Given the description of an element on the screen output the (x, y) to click on. 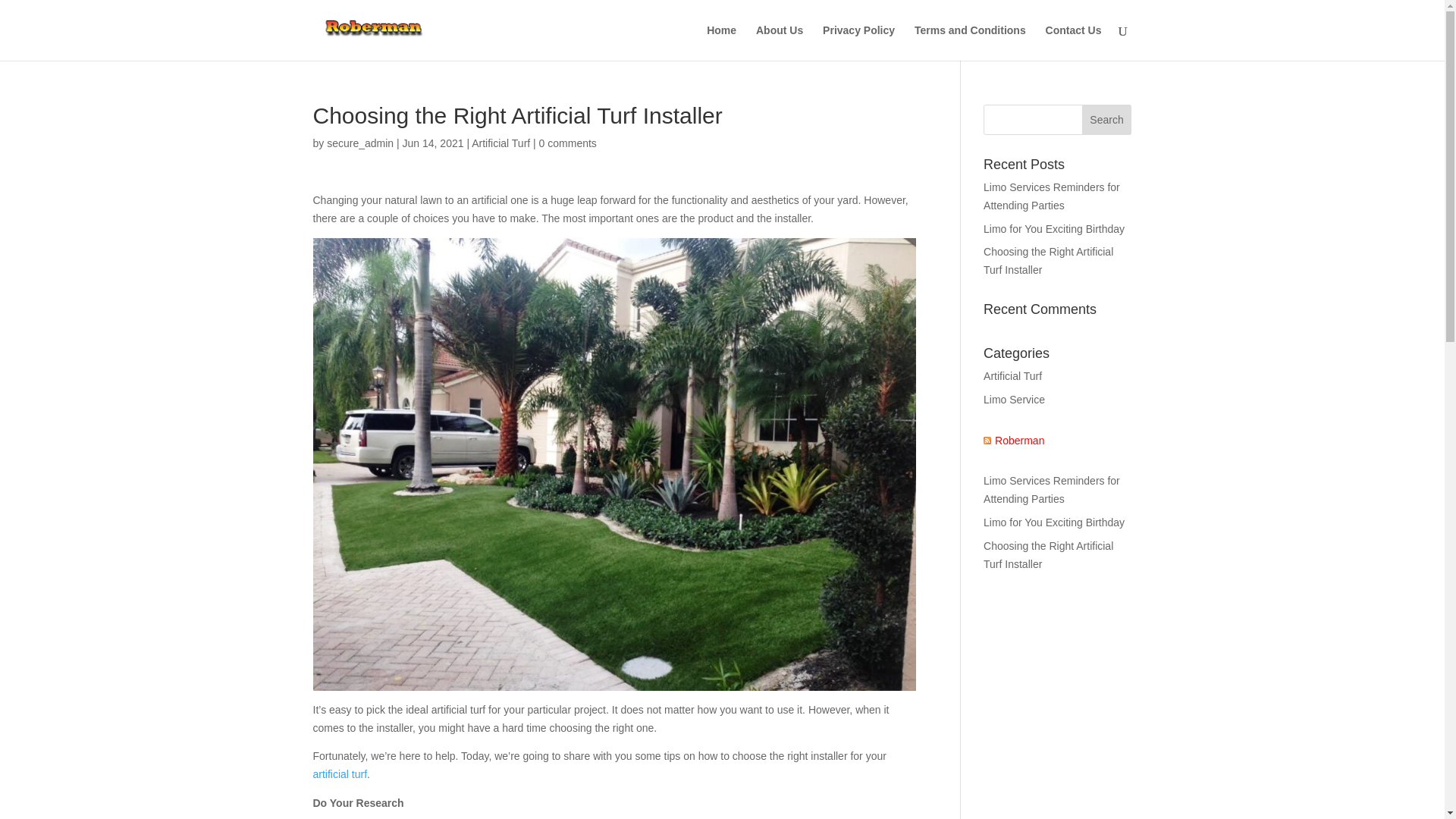
Limo Services Reminders for Attending Parties  (1051, 490)
Limo Services Reminders for Attending Parties  (1051, 195)
Choosing the Right Artificial Turf Installer  (1048, 554)
Artificial Turf (1013, 376)
Terms and Conditions (970, 42)
Choosing the Right Artificial Turf Installer  (1048, 260)
Roberman (1013, 440)
Artificial Turf (500, 143)
Contact Us (1073, 42)
0 comments (567, 143)
artificial turf (339, 774)
Privacy Policy (858, 42)
Limo for You Exciting Birthday  (1055, 228)
About Us (779, 42)
Limo Service (1014, 399)
